Given the description of an element on the screen output the (x, y) to click on. 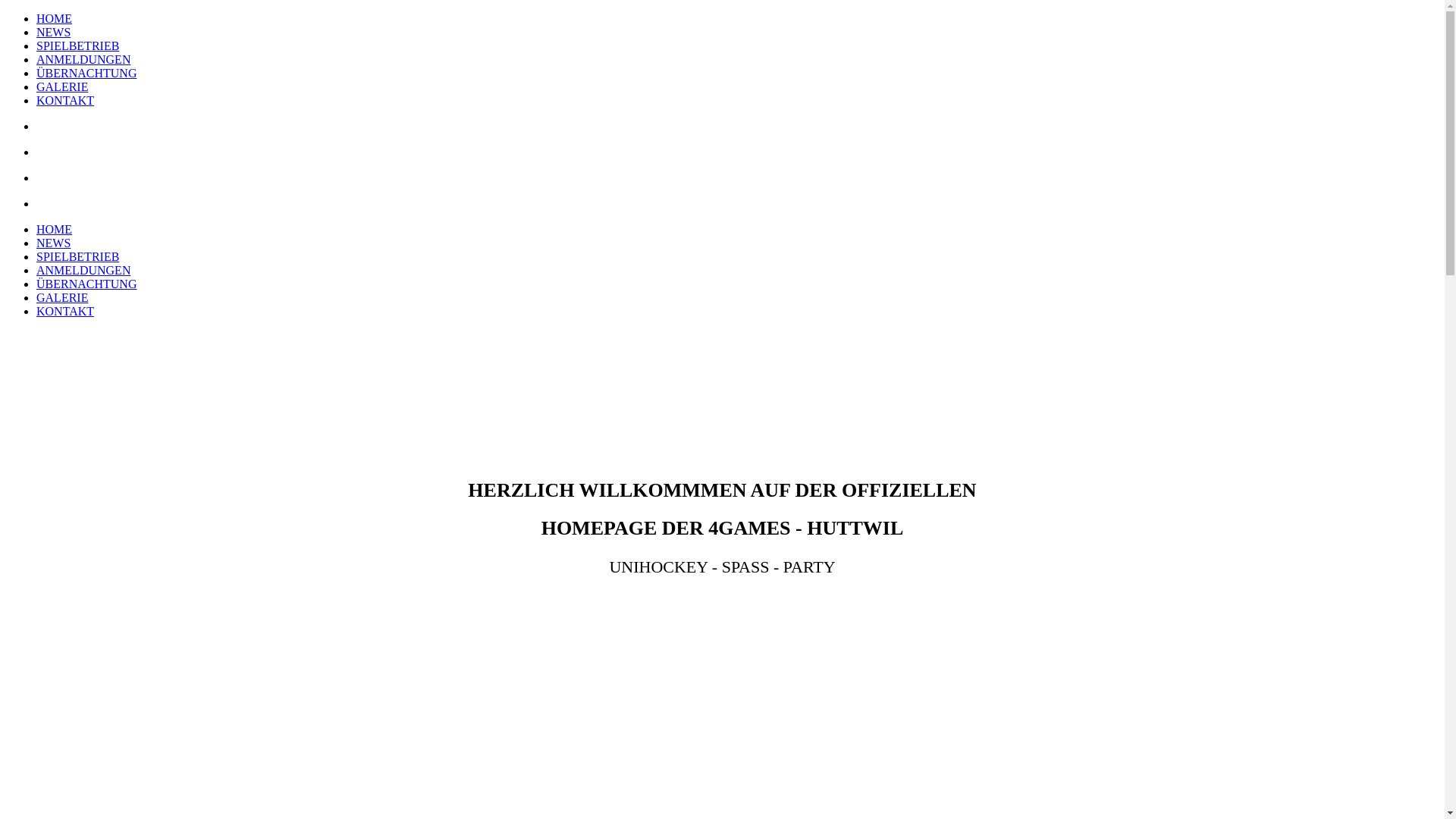
SPIELBETRIEB Element type: text (77, 45)
KONTAKT Element type: text (65, 310)
SPIELBETRIEB Element type: text (77, 256)
NEWS Element type: text (53, 242)
KONTAKT Element type: text (65, 100)
HOME Element type: text (54, 228)
GALERIE Element type: text (61, 297)
GALERIE Element type: text (61, 86)
HOME Element type: text (54, 18)
ANMELDUNGEN Element type: text (83, 269)
NEWS Element type: text (53, 31)
ANMELDUNGEN Element type: text (83, 59)
